Given the description of an element on the screen output the (x, y) to click on. 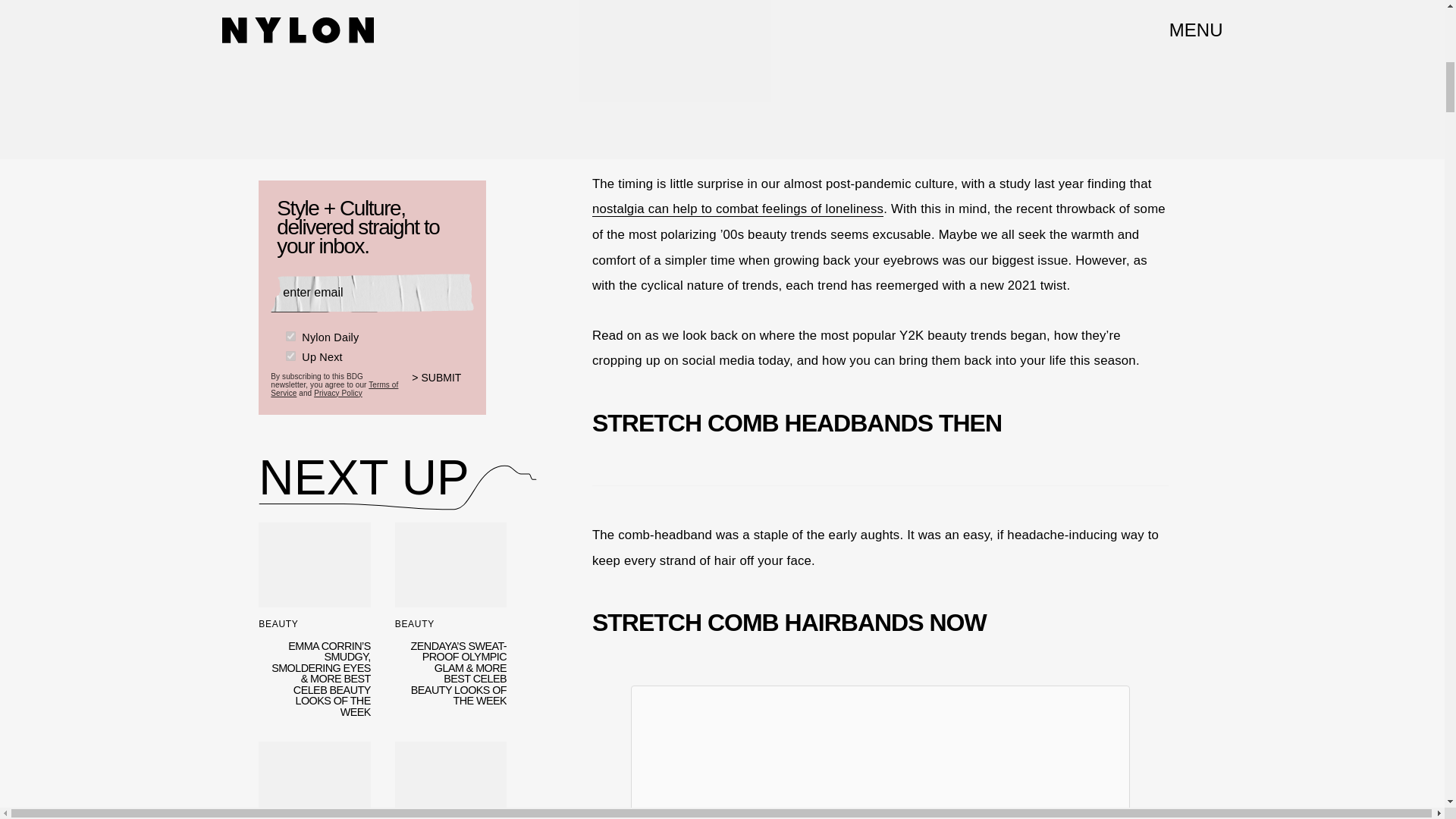
SUBMIT (443, 387)
Terms of Service (333, 388)
nostalgia can help to combat feelings of loneliness (737, 209)
Privacy Policy (338, 393)
